Given the description of an element on the screen output the (x, y) to click on. 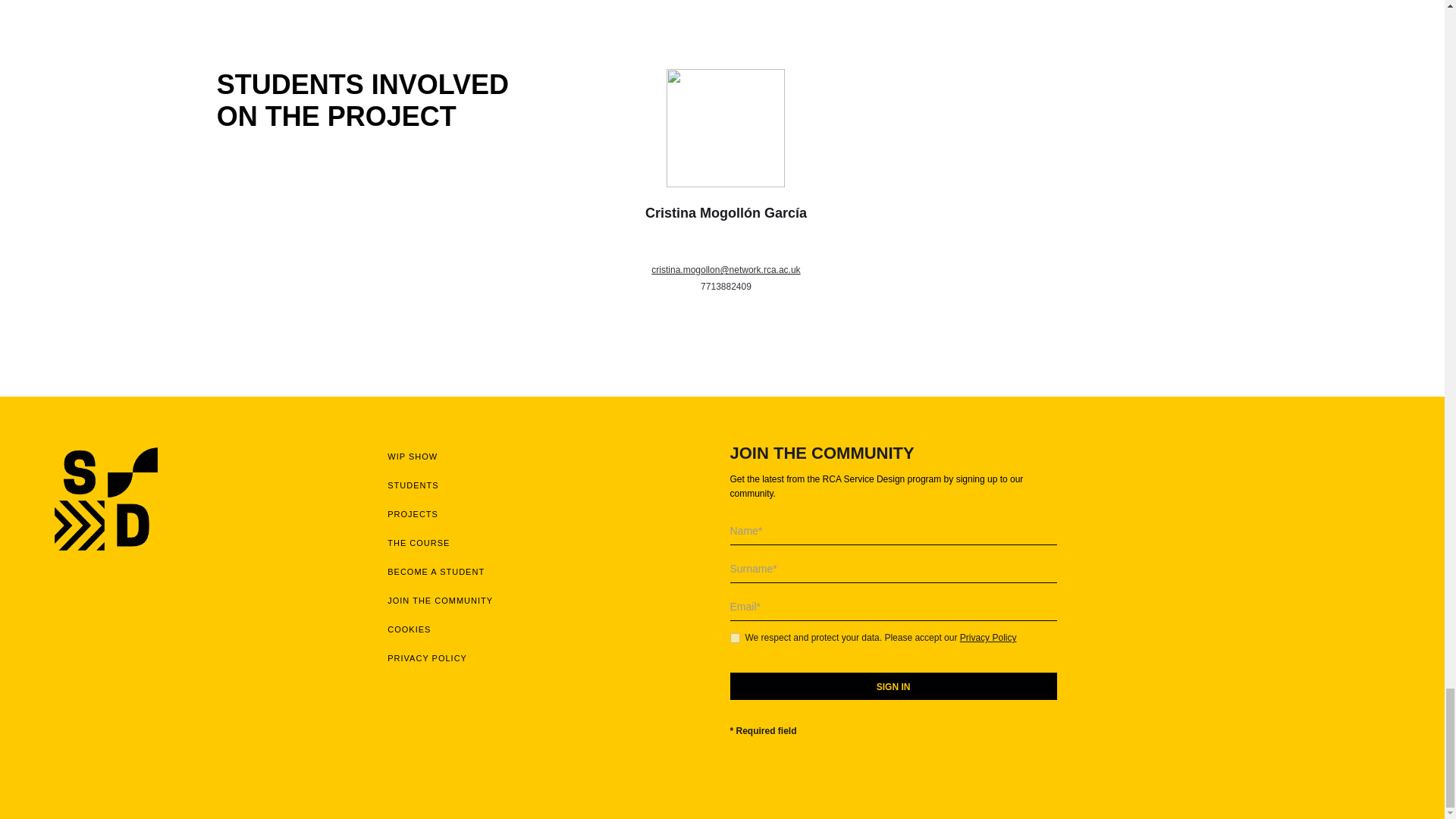
THE COURSE (550, 542)
STUDENTS (550, 484)
WIP SHOW (550, 456)
PROJECTS (550, 513)
Sign in (893, 686)
PRIVACY POLICY (550, 657)
Privacy Policy (987, 637)
on (734, 637)
JOIN THE COMMUNITY (550, 600)
Sign in (893, 686)
